Given the description of an element on the screen output the (x, y) to click on. 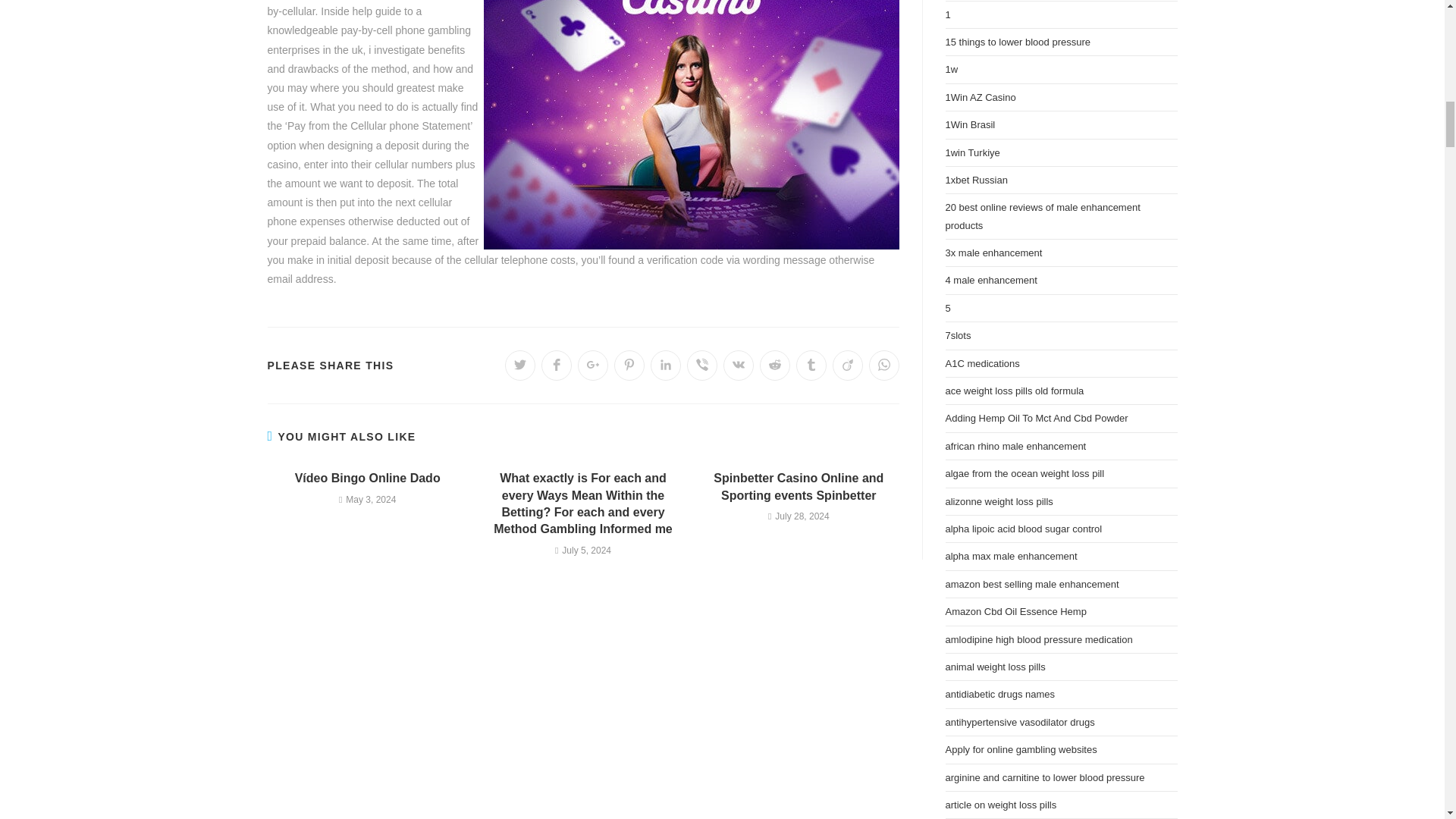
Share on Viber (702, 365)
Share on Tumblr (811, 365)
Share on WhatsApp (884, 365)
Share on Viadeo (847, 365)
Share on LinkedIn (665, 365)
Spinbetter Casino Online and Sporting events Spinbetter (798, 487)
Spinbetter Casino Online and Sporting events Spinbetter (798, 487)
Share on VK (738, 365)
